Given the description of an element on the screen output the (x, y) to click on. 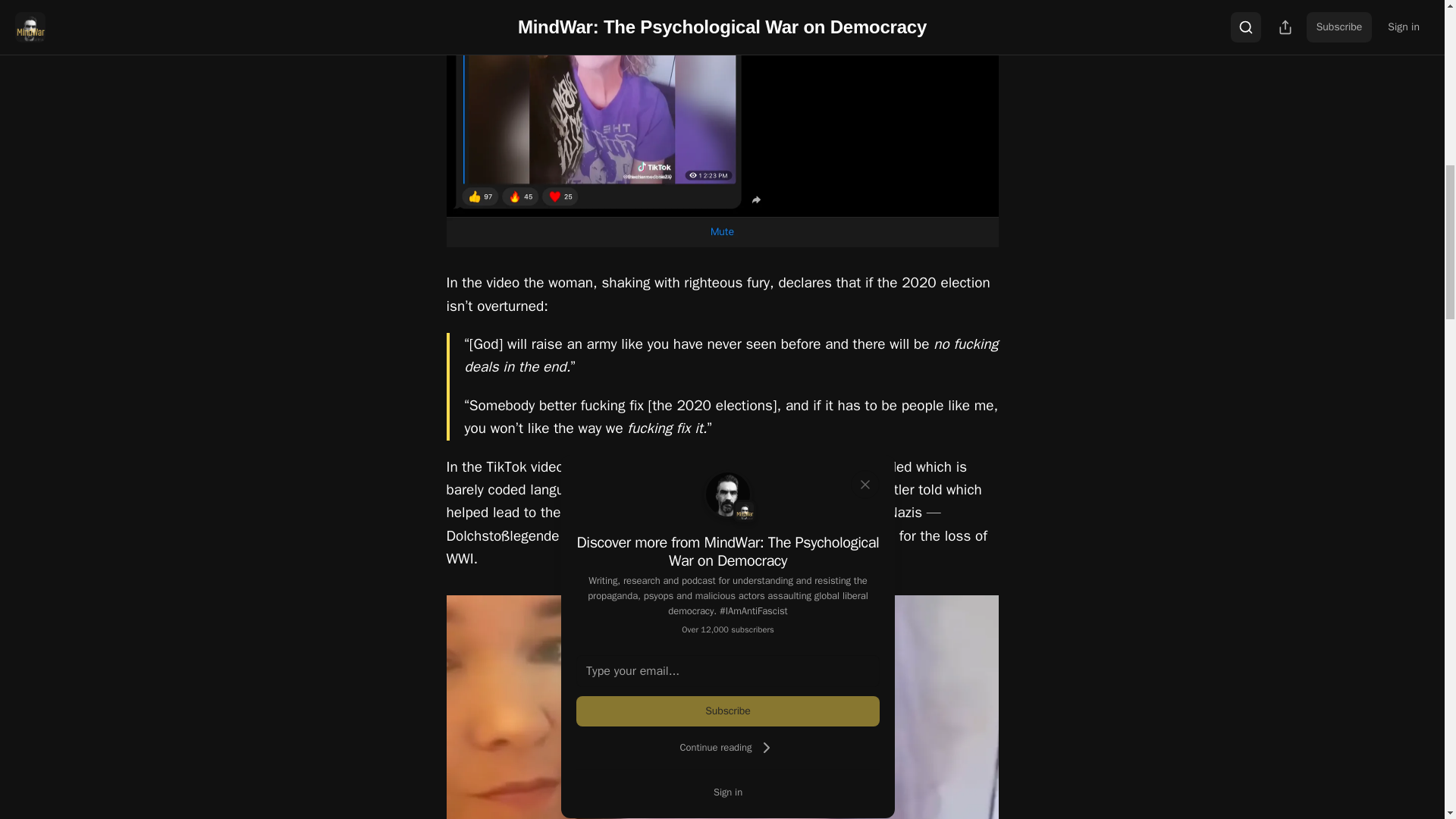
stab-in-the-back myth (670, 536)
Subscribe (727, 711)
Sign in (727, 791)
